Given the description of an element on the screen output the (x, y) to click on. 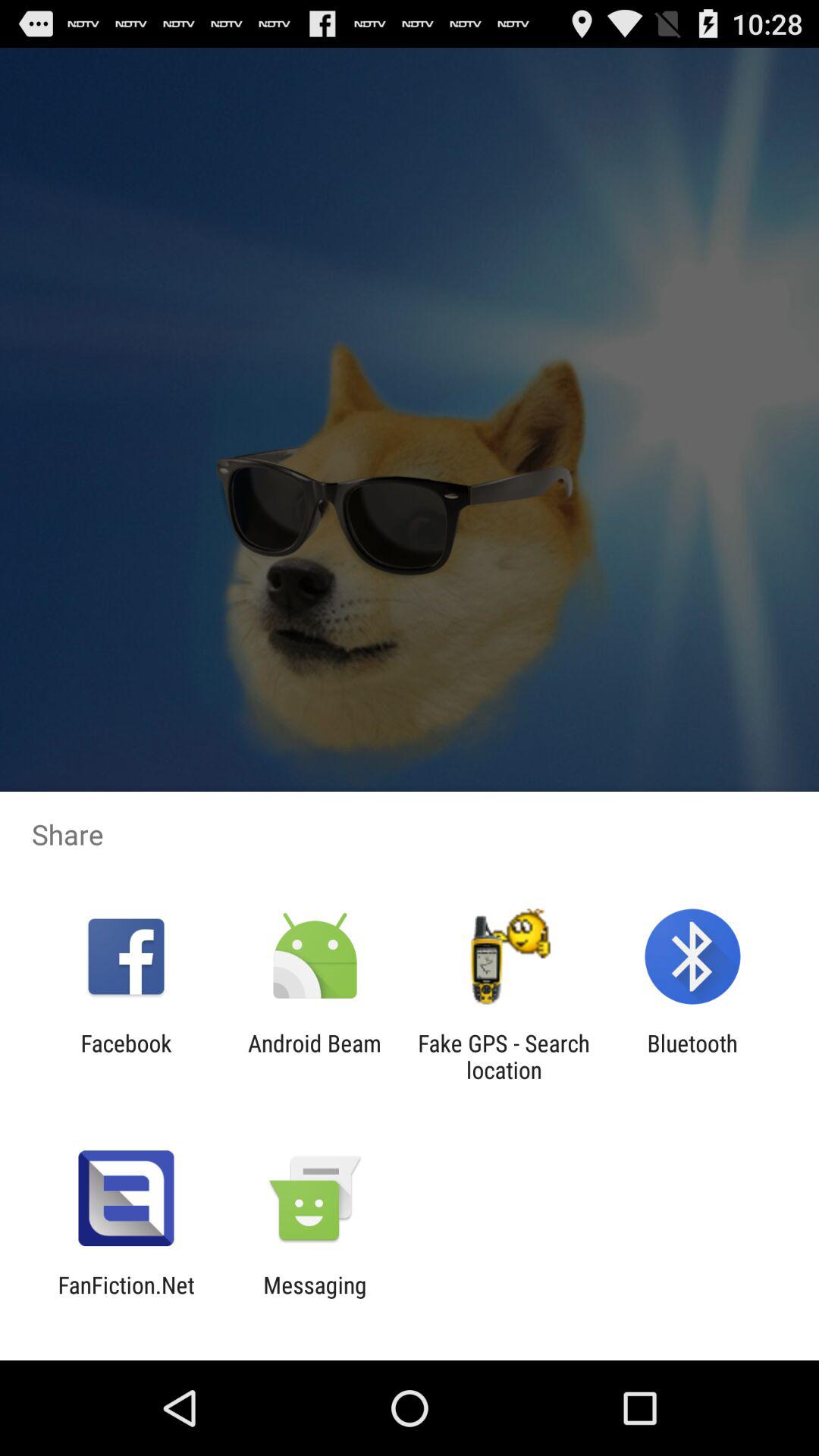
open app next to messaging app (126, 1298)
